Given the description of an element on the screen output the (x, y) to click on. 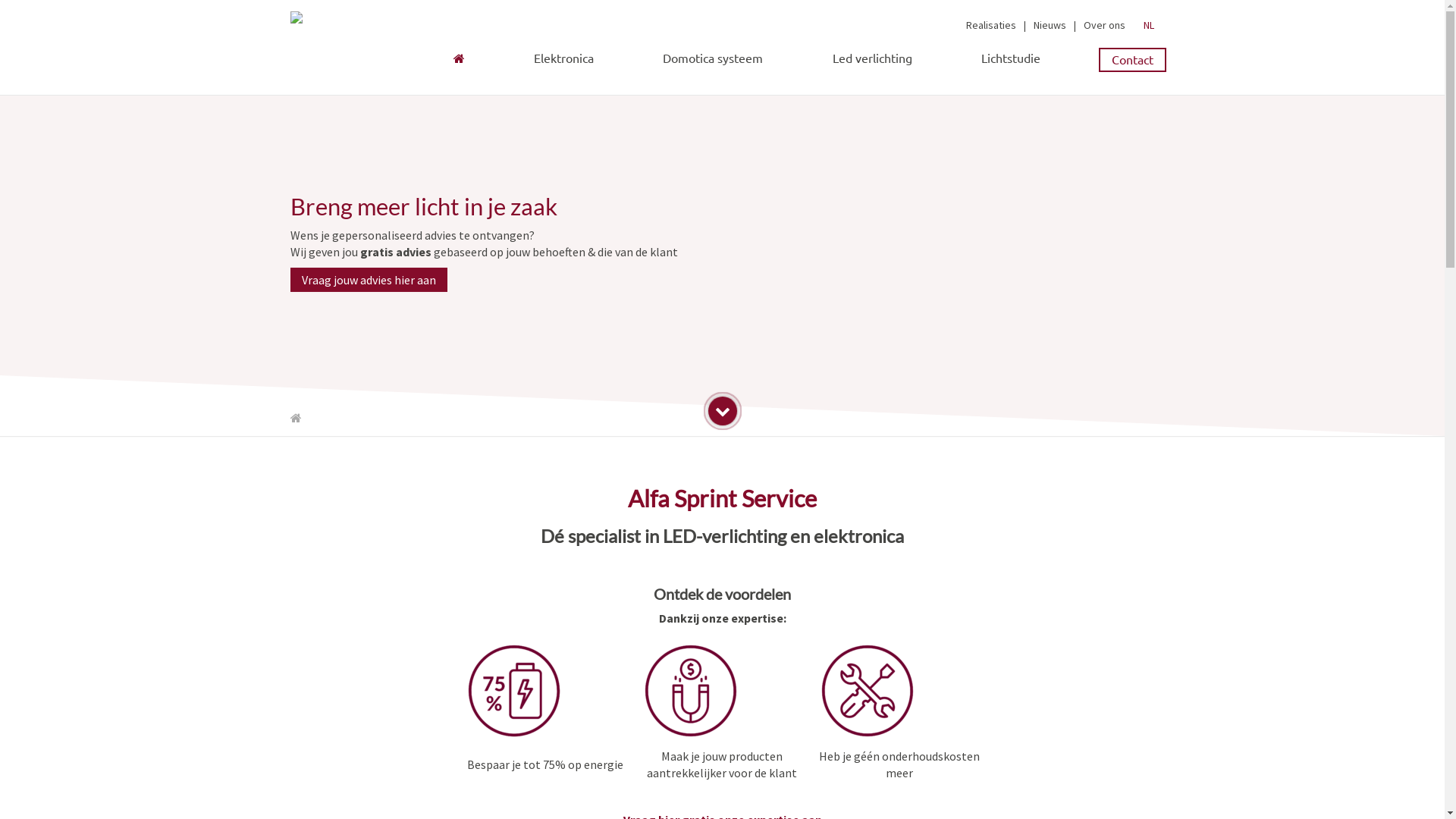
Nieuws Element type: text (1048, 24)
Contact Element type: text (1132, 59)
Elektronica Element type: text (563, 58)
Domotica systeem Element type: text (712, 58)
Vraag jouw advies hier aan Element type: text (367, 279)
Led verlichting Element type: text (872, 54)
Realisaties Element type: text (991, 24)
Vraag jouw advies hier aan Element type: text (367, 279)
Over ons Element type: text (1103, 24)
Nederlands Element type: text (1146, 24)
Lichtstudie Element type: text (1010, 58)
